Given the description of an element on the screen output the (x, y) to click on. 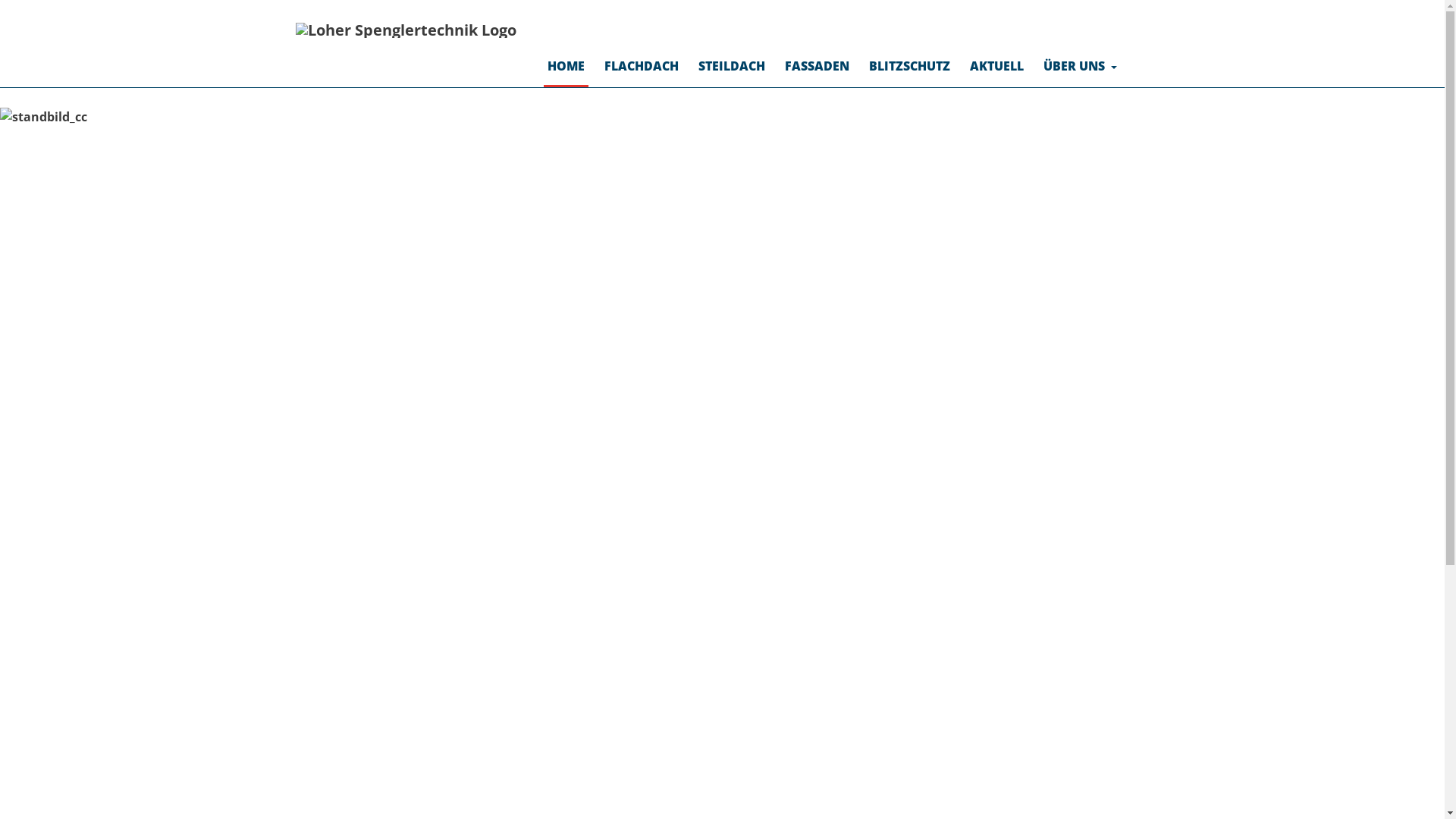
BLITZSCHUTZ Element type: text (908, 65)
HOME Element type: text (564, 65)
STEILDACH Element type: text (731, 65)
FASSADEN Element type: text (817, 65)
AKTUELL Element type: text (996, 65)
FLACHDACH Element type: text (641, 65)
